Given the description of an element on the screen output the (x, y) to click on. 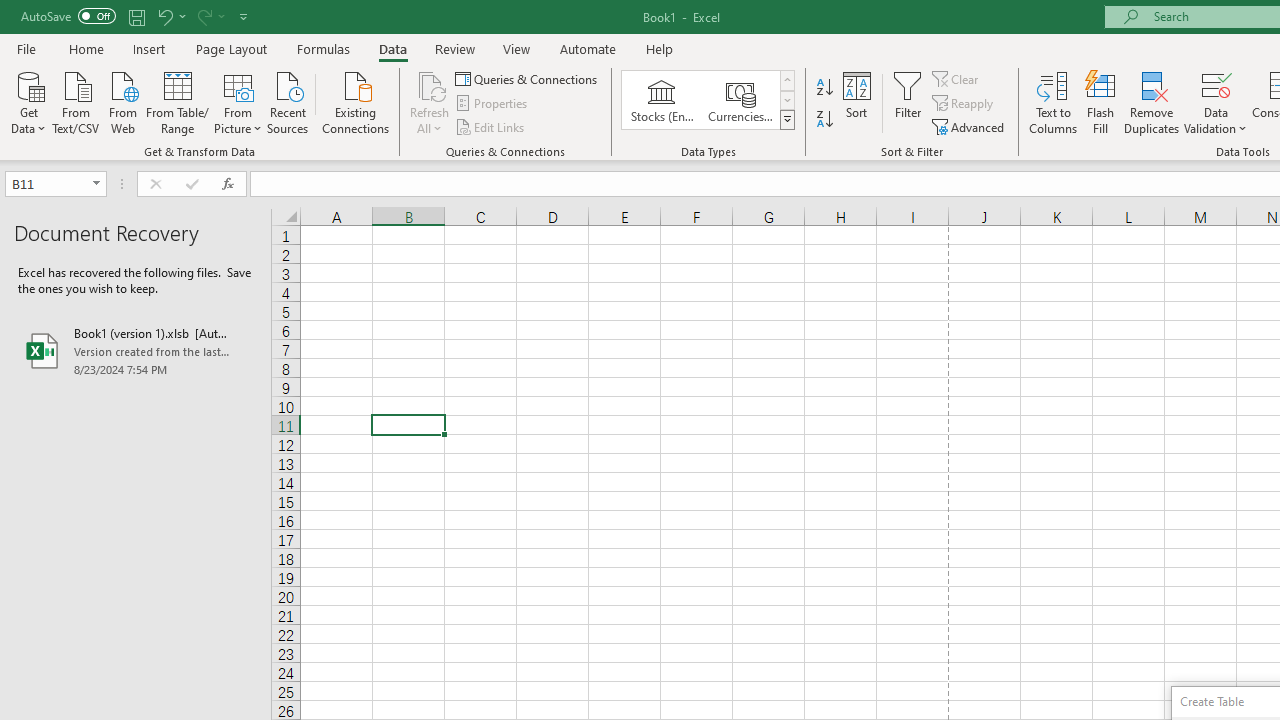
Formulas (323, 48)
Name Box (46, 183)
Remove Duplicates (1151, 102)
Insert (149, 48)
Reapply (964, 103)
Open (96, 183)
Row up (786, 79)
Refresh All (429, 102)
Help (660, 48)
Quick Access Toolbar (136, 16)
Undo (164, 15)
System (10, 11)
From Text/CSV (75, 101)
Sort A to Z (824, 87)
Page Layout (230, 48)
